Given the description of an element on the screen output the (x, y) to click on. 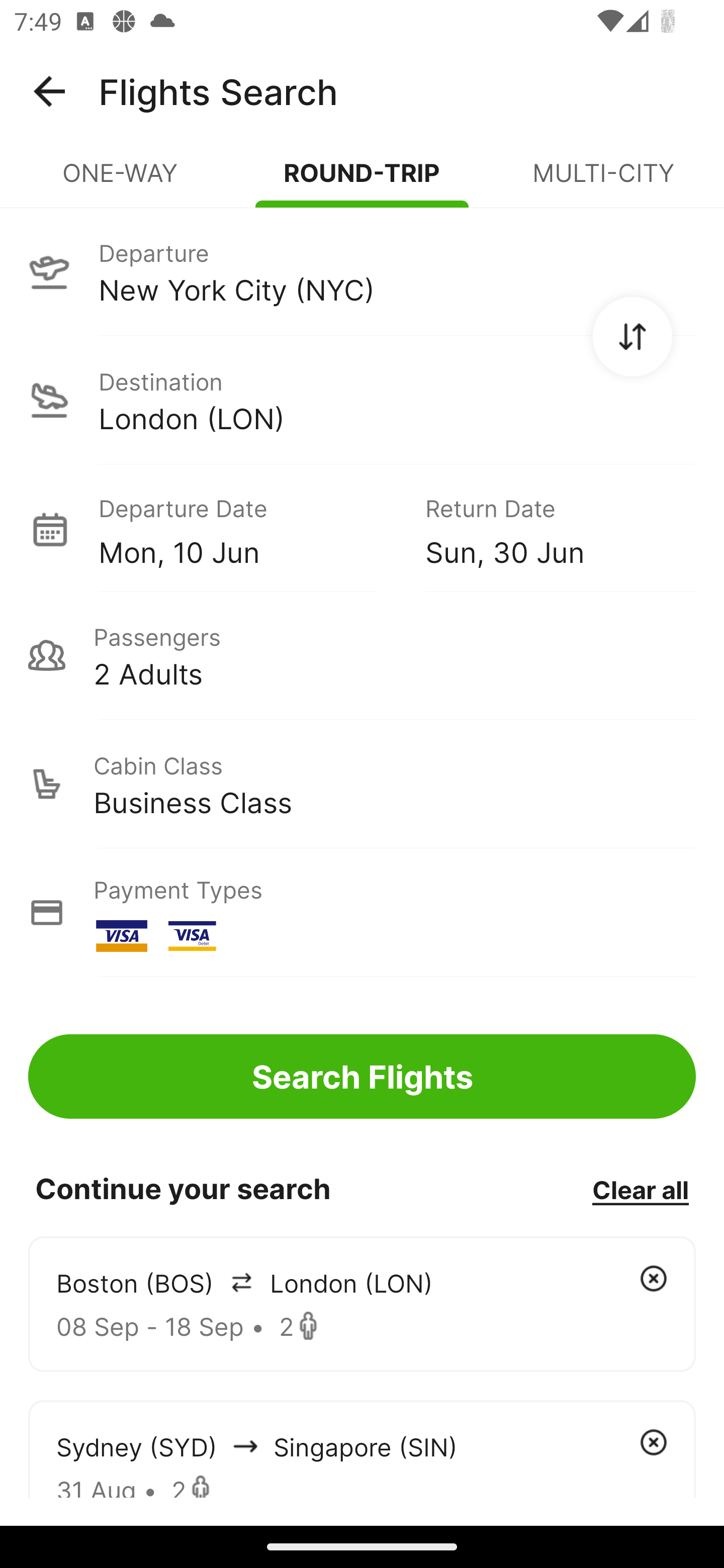
ONE-WAY (120, 180)
ROUND-TRIP (361, 180)
MULTI-CITY (603, 180)
Departure New York City (NYC) (362, 270)
Destination London (LON) (362, 400)
Departure Date Mon, 10 Jun (247, 528)
Return Date Sun, 30 Jun (546, 528)
Passengers 2 Adults (362, 655)
Cabin Class Business Class (362, 783)
Payment Types (362, 912)
Search Flights (361, 1075)
Clear all (640, 1189)
